Given the description of an element on the screen output the (x, y) to click on. 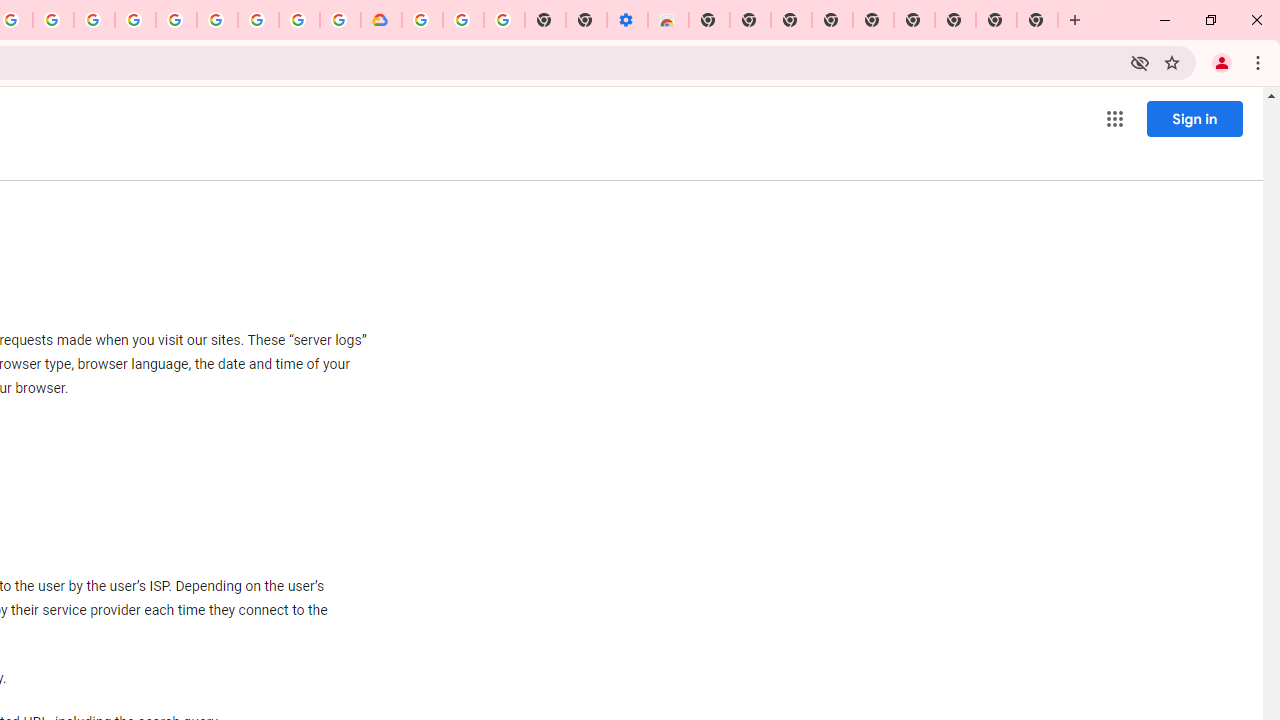
Settings - Accessibility (626, 20)
Ad Settings (135, 20)
New Tab (708, 20)
Sign in - Google Accounts (421, 20)
Browse the Google Chrome Community - Google Chrome Community (340, 20)
Google Account Help (217, 20)
